Given the description of an element on the screen output the (x, y) to click on. 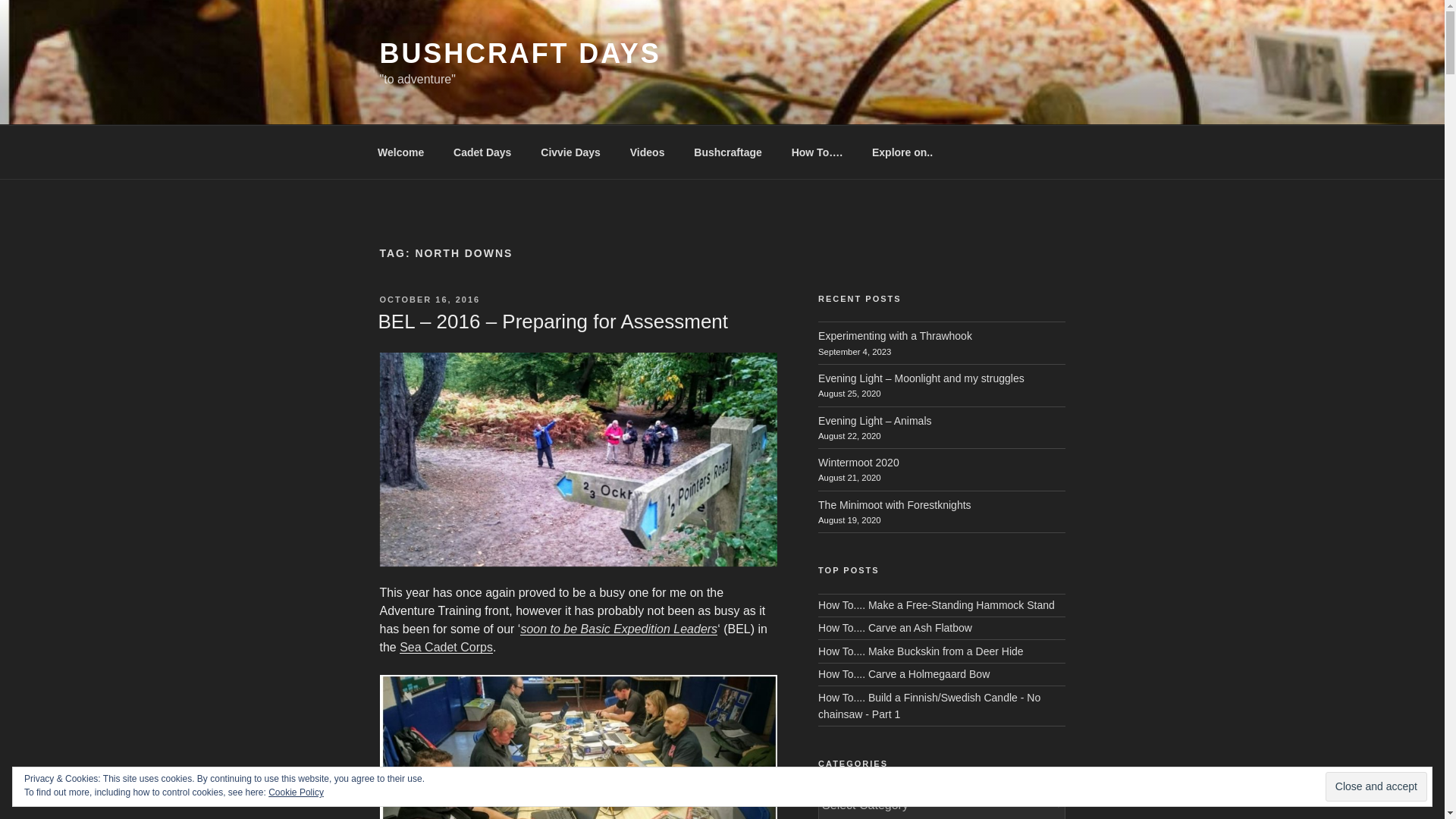
How To.... Make a Free-Standing Hammock Stand (936, 604)
BUSHCRAFT DAYS (519, 52)
Videos (646, 151)
Experimenting with a Thrawhook (895, 336)
Cadet Days (482, 151)
soon to be Basic Expedition Leaders (618, 628)
Wintermoot 2020 (858, 462)
How To.... Make Buckskin from a Deer Hide (920, 651)
Civvie Days (570, 151)
Bushcraftage (727, 151)
